Given the description of an element on the screen output the (x, y) to click on. 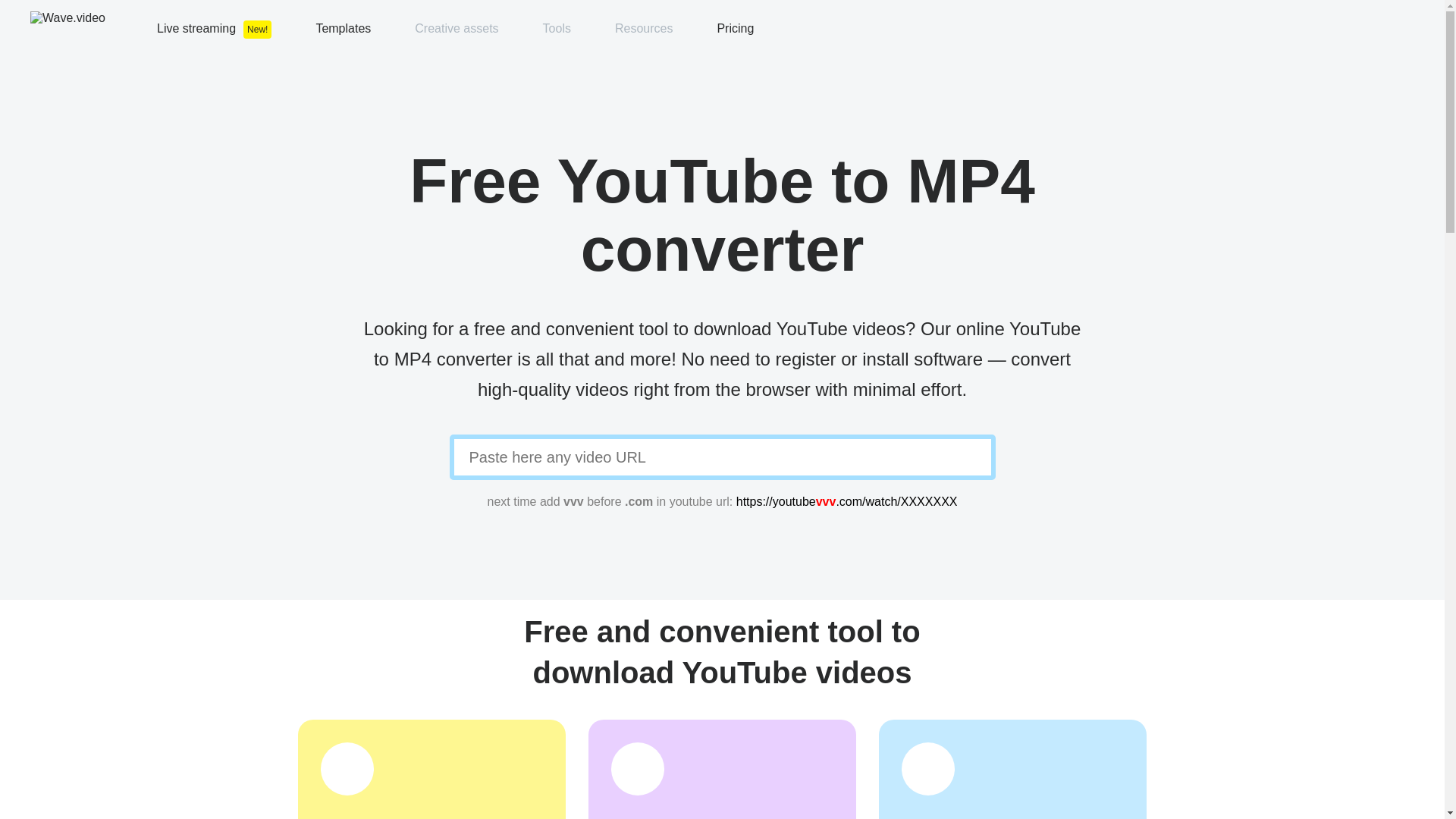
Templates (343, 27)
Live streaming (196, 27)
